Given the description of an element on the screen output the (x, y) to click on. 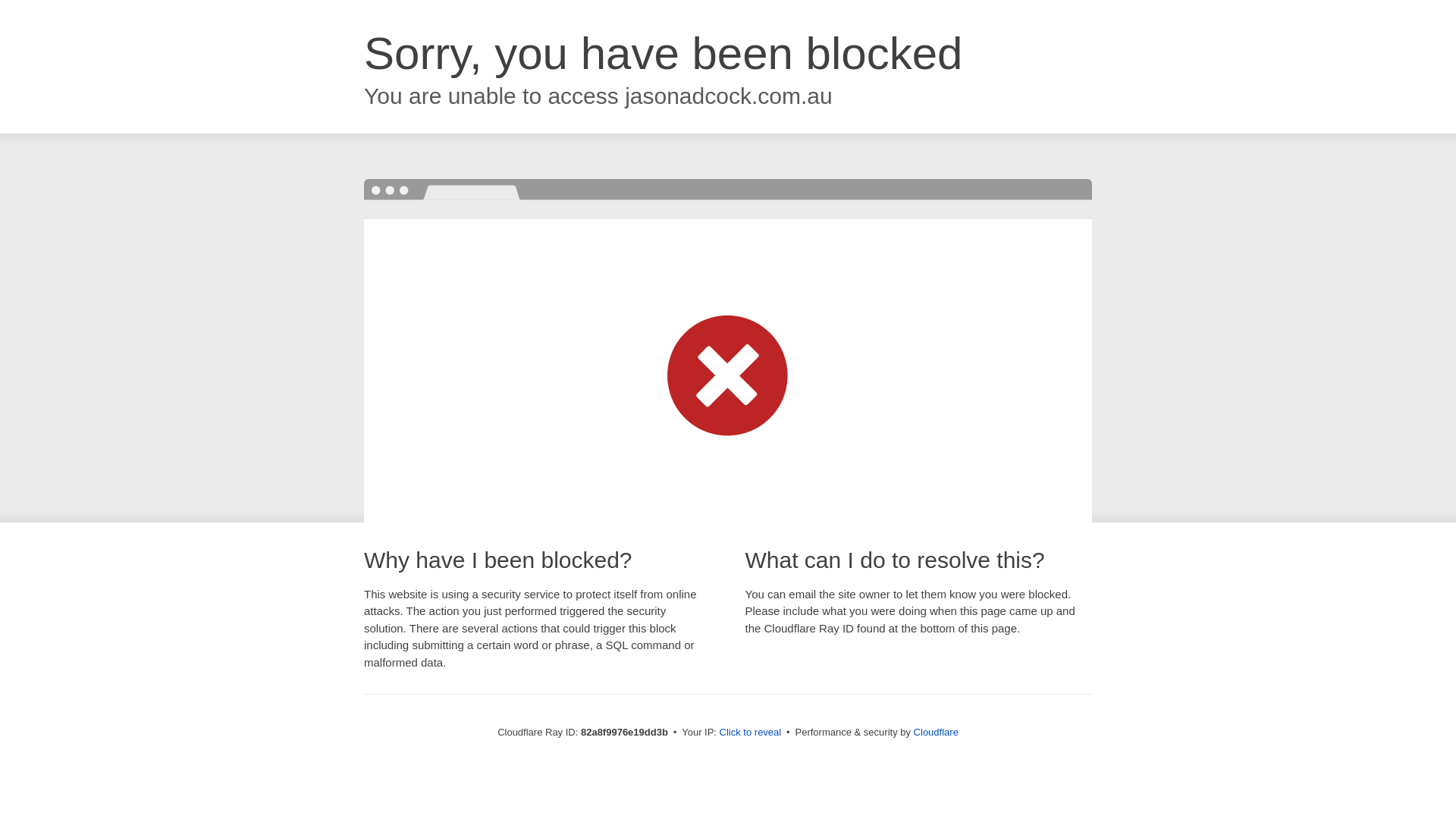
Click to reveal Element type: text (750, 732)
Cloudflare Element type: text (935, 731)
